Given the description of an element on the screen output the (x, y) to click on. 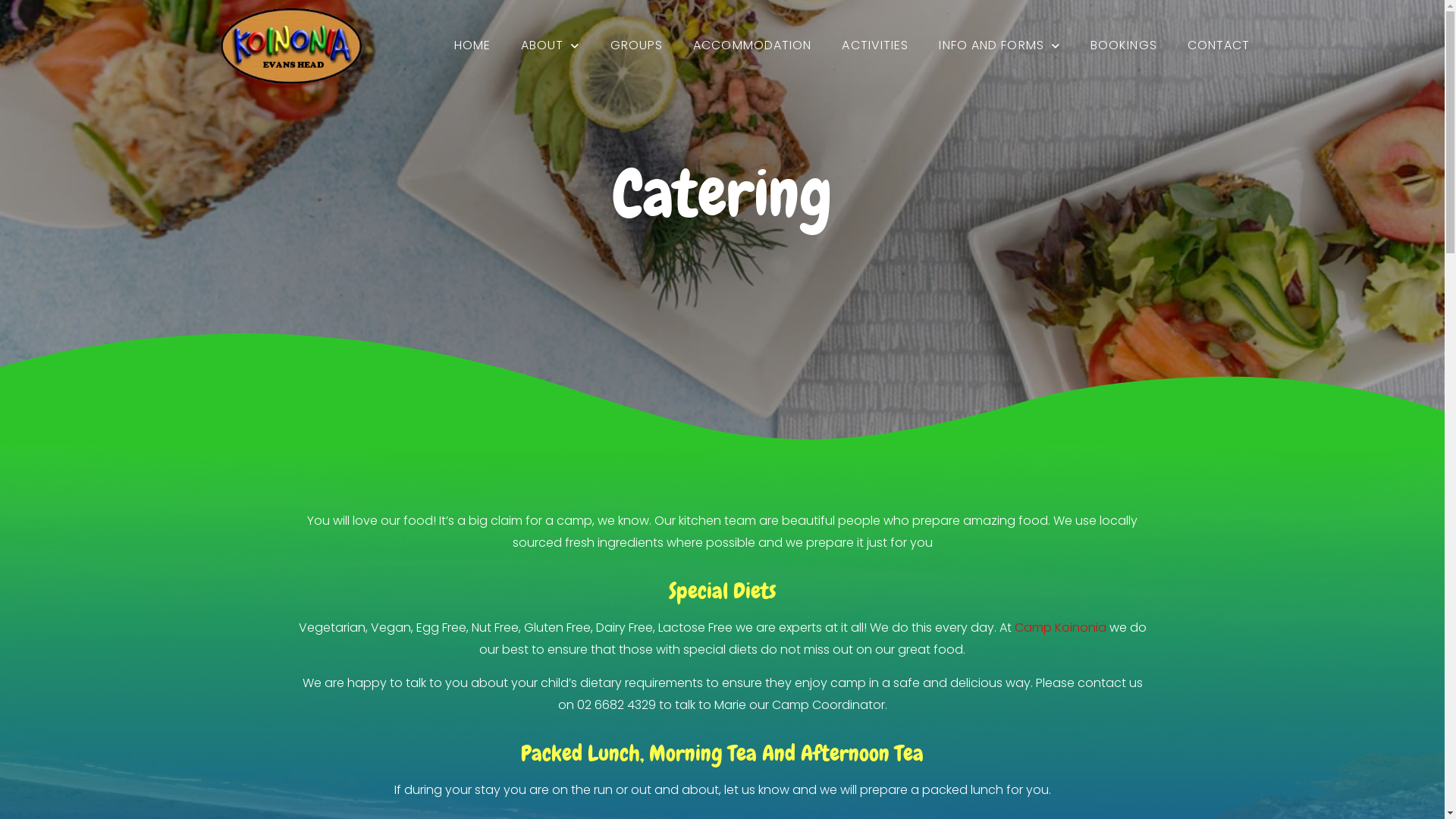
CONTACT Element type: text (1218, 45)
Camp Koinonia Element type: text (1060, 627)
ABOUT Element type: text (550, 45)
GROUPS Element type: text (636, 45)
ACCOMMODATION Element type: text (751, 45)
BOOKINGS Element type: text (1123, 45)
INFO AND FORMS Element type: text (999, 45)
HOME Element type: text (472, 45)
ACTIVITIES Element type: text (874, 45)
